Given the description of an element on the screen output the (x, y) to click on. 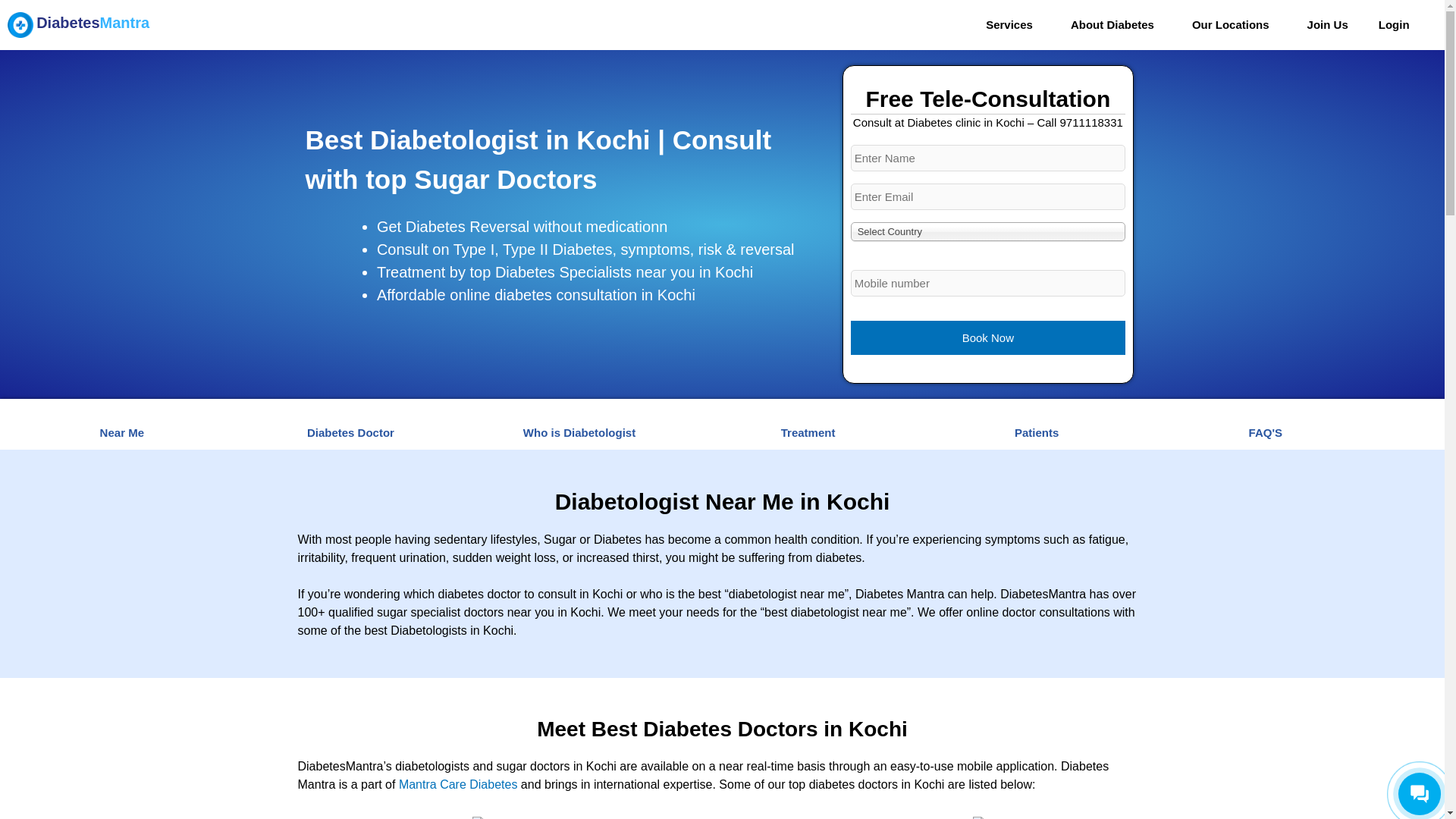
Our Locations (1234, 24)
About Diabetes (1115, 24)
Login (1397, 24)
Join Us (1327, 24)
Book Now (987, 336)
Services (1013, 24)
